Given the description of an element on the screen output the (x, y) to click on. 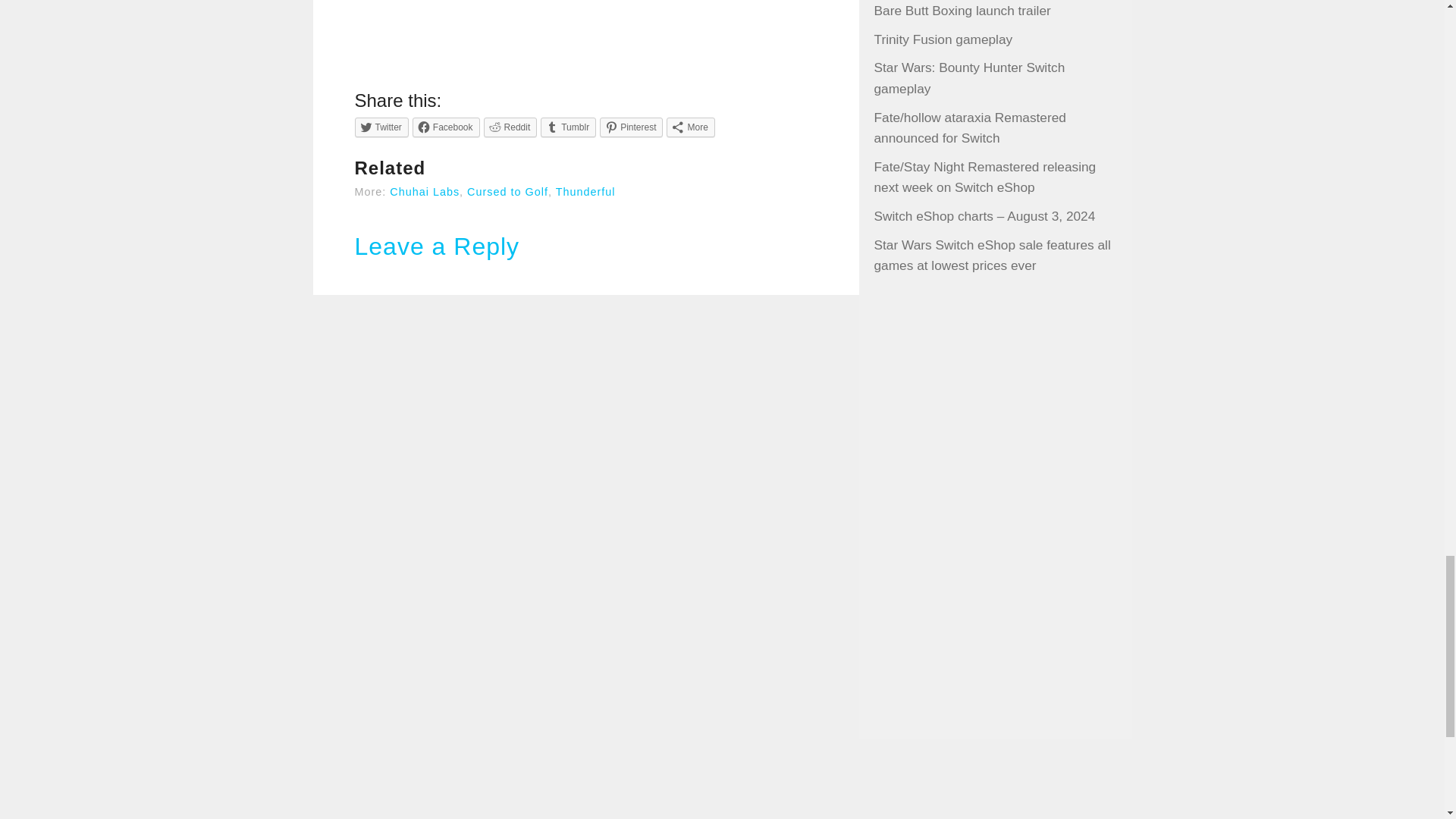
Twitter (382, 127)
Click to share on Reddit (510, 127)
Facebook (446, 127)
Click to share on Tumblr (567, 127)
More (690, 127)
Click to share on Twitter (382, 127)
Tumblr (567, 127)
Click to share on Pinterest (630, 127)
Click to share on Facebook (446, 127)
Reddit (510, 127)
Pinterest (630, 127)
